Given the description of an element on the screen output the (x, y) to click on. 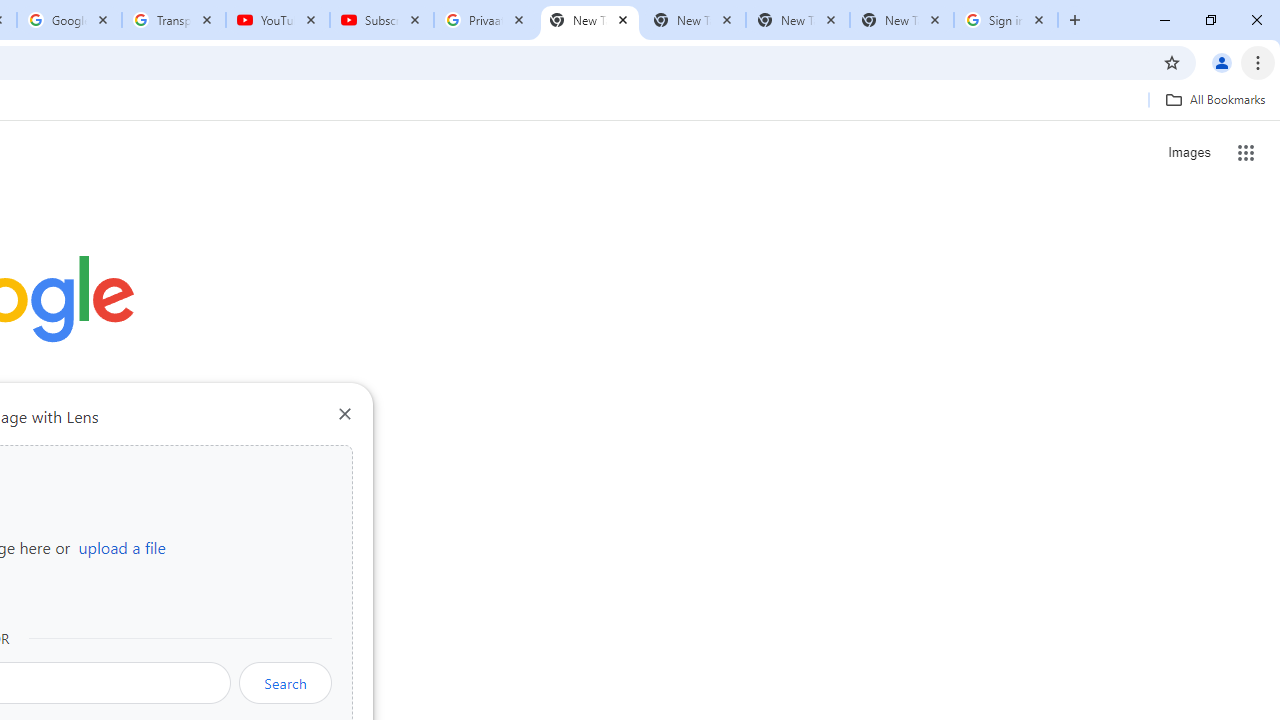
More actions for Sign in shortcut (152, 466)
YouTube (278, 20)
upload a file (122, 547)
